Given the description of an element on the screen output the (x, y) to click on. 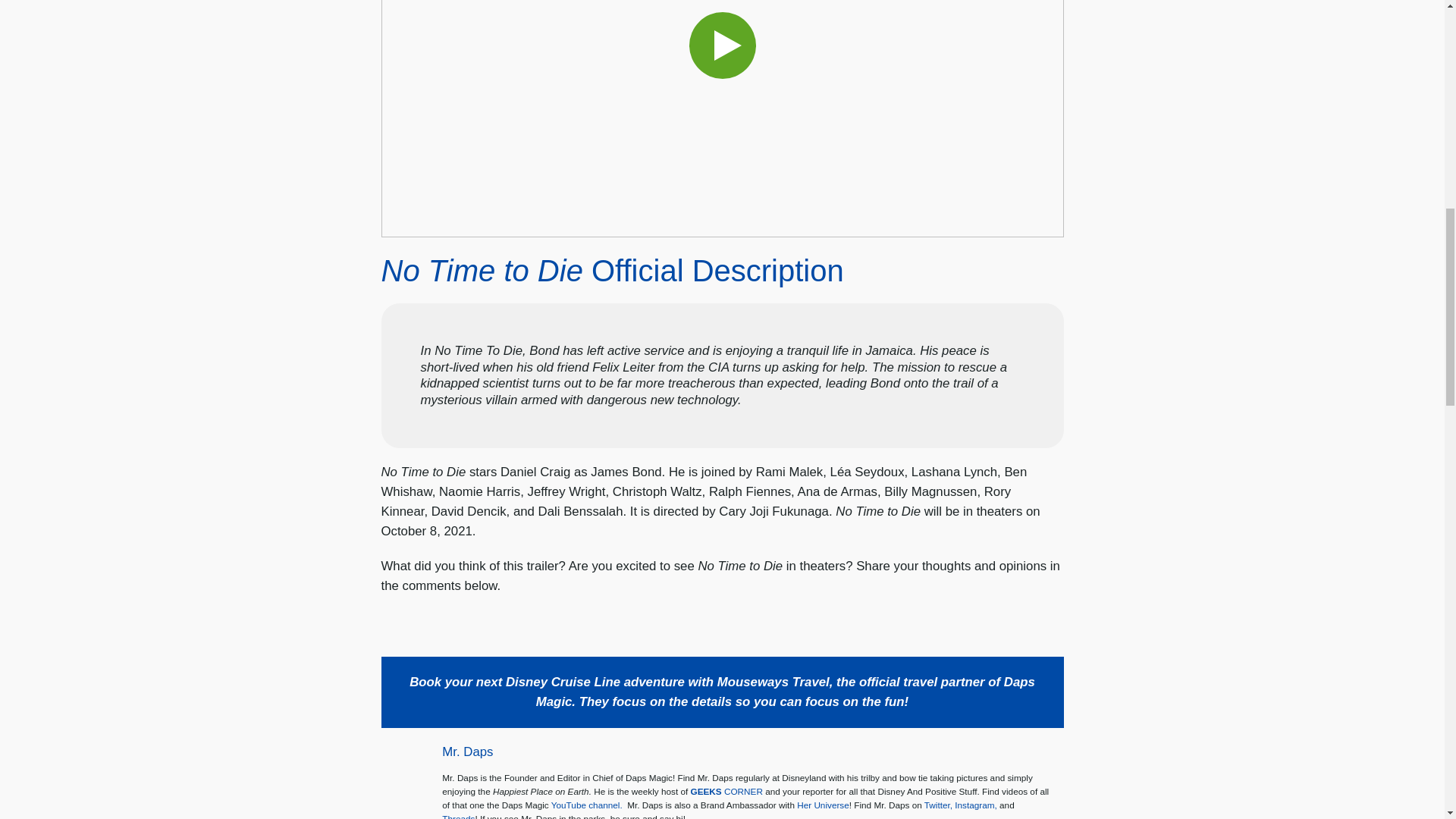
Twitter, (938, 804)
GEEKS CORNER (726, 791)
Threads (458, 816)
Her Universe (822, 804)
Instagram, (976, 804)
YouTube channel. (587, 804)
Mr. Daps (467, 751)
